Given the description of an element on the screen output the (x, y) to click on. 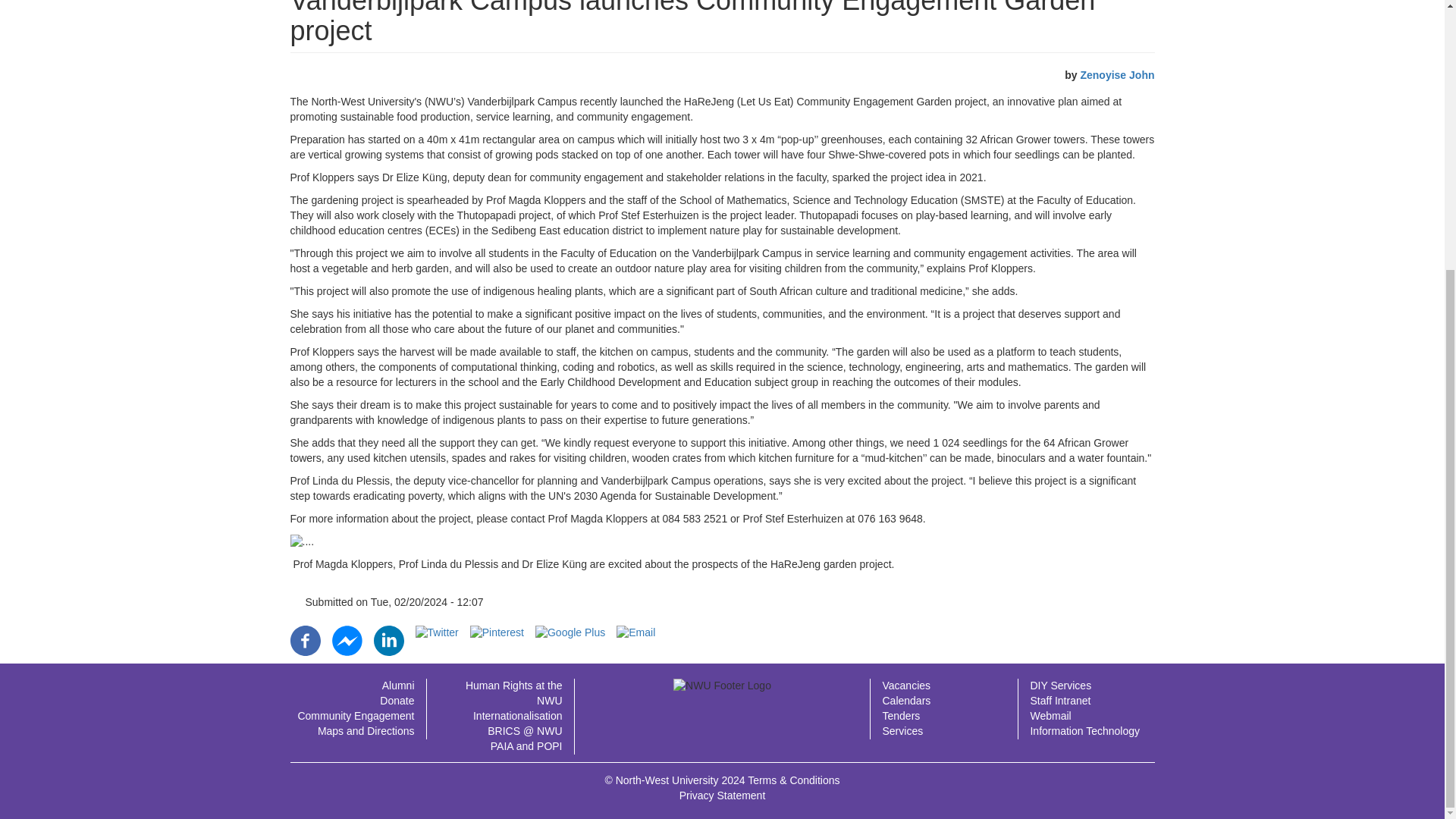
Facebook messenger (346, 639)
Facebook (304, 639)
Twitter (436, 632)
Pinterest (497, 632)
Email (635, 632)
Linkedin (387, 639)
Google Plus (570, 632)
